Given the description of an element on the screen output the (x, y) to click on. 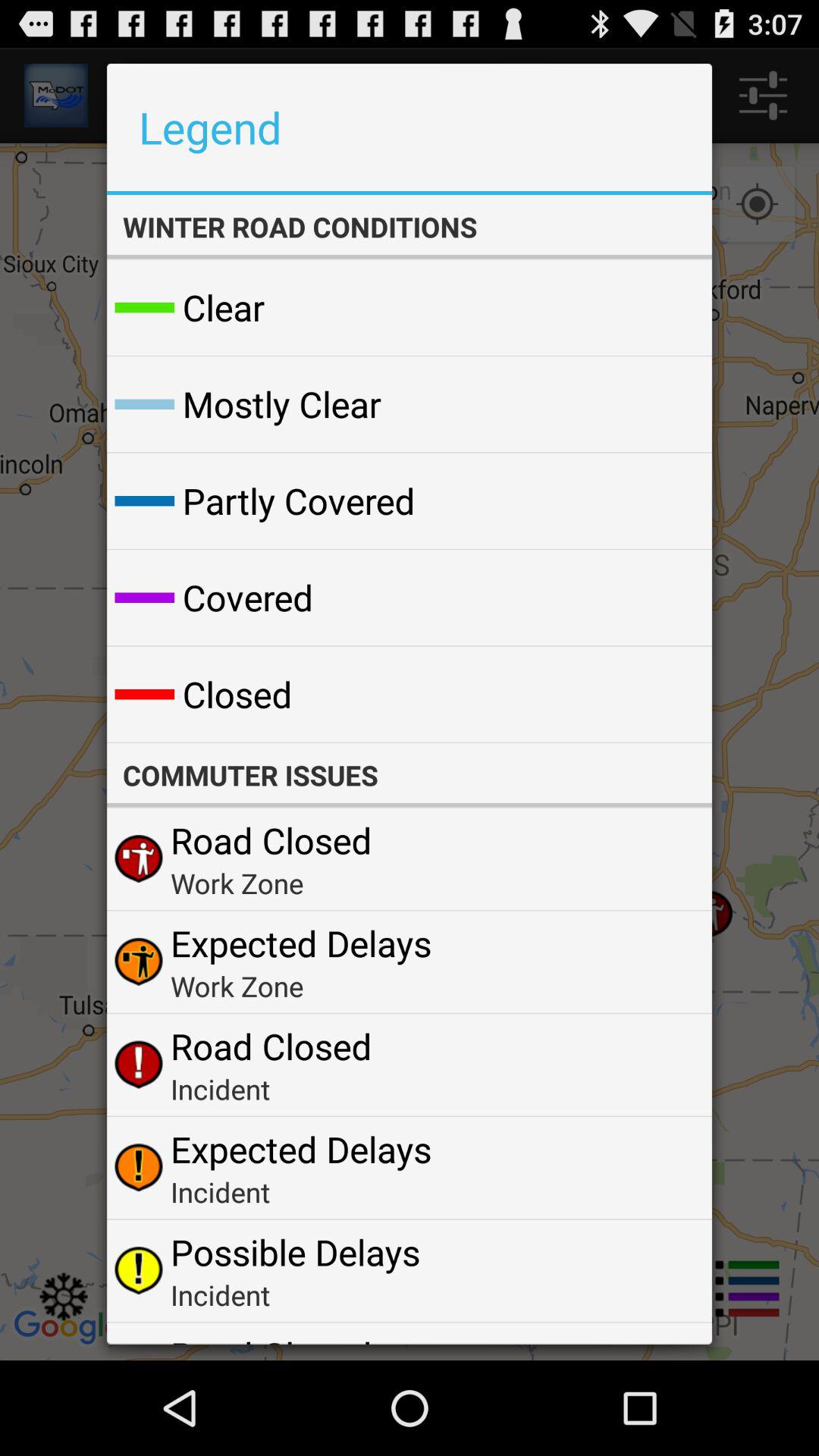
turn on the app below incident icon (295, 1251)
